Given the description of an element on the screen output the (x, y) to click on. 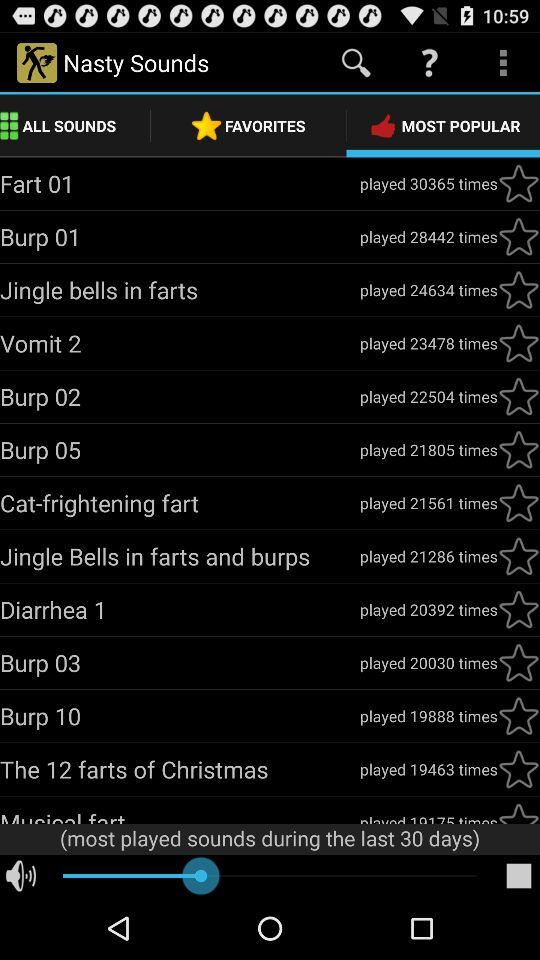
click on more icon (503, 63)
select the fifth star under the most popular (518, 396)
click the star mark under catfrightening fart (518, 502)
